Given the description of an element on the screen output the (x, y) to click on. 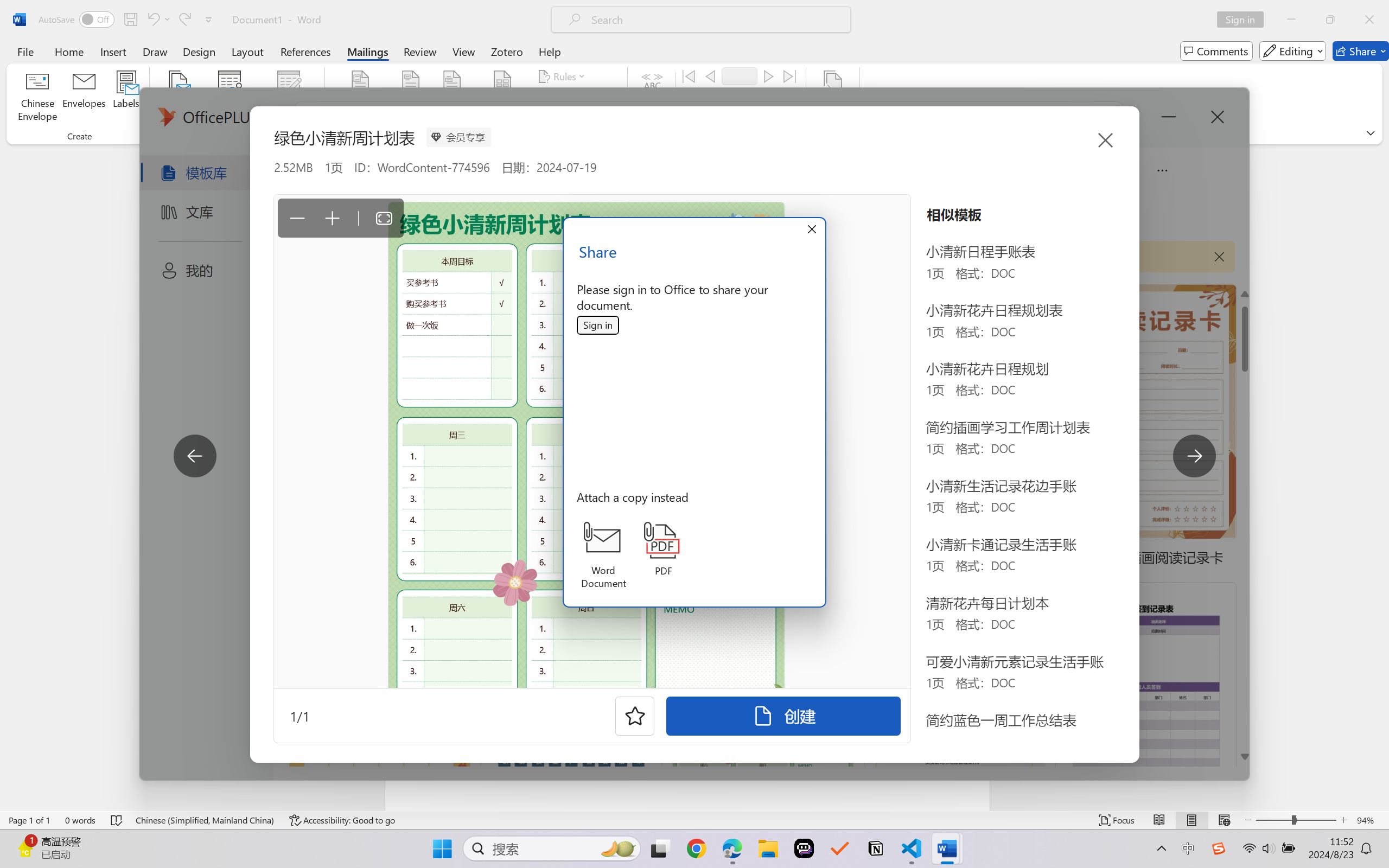
Labels... (126, 97)
Language Chinese (Simplified, Mainland China) (205, 819)
Undo Apply Quick Style Set (152, 19)
Highlight Merge Fields (360, 97)
